Given the description of an element on the screen output the (x, y) to click on. 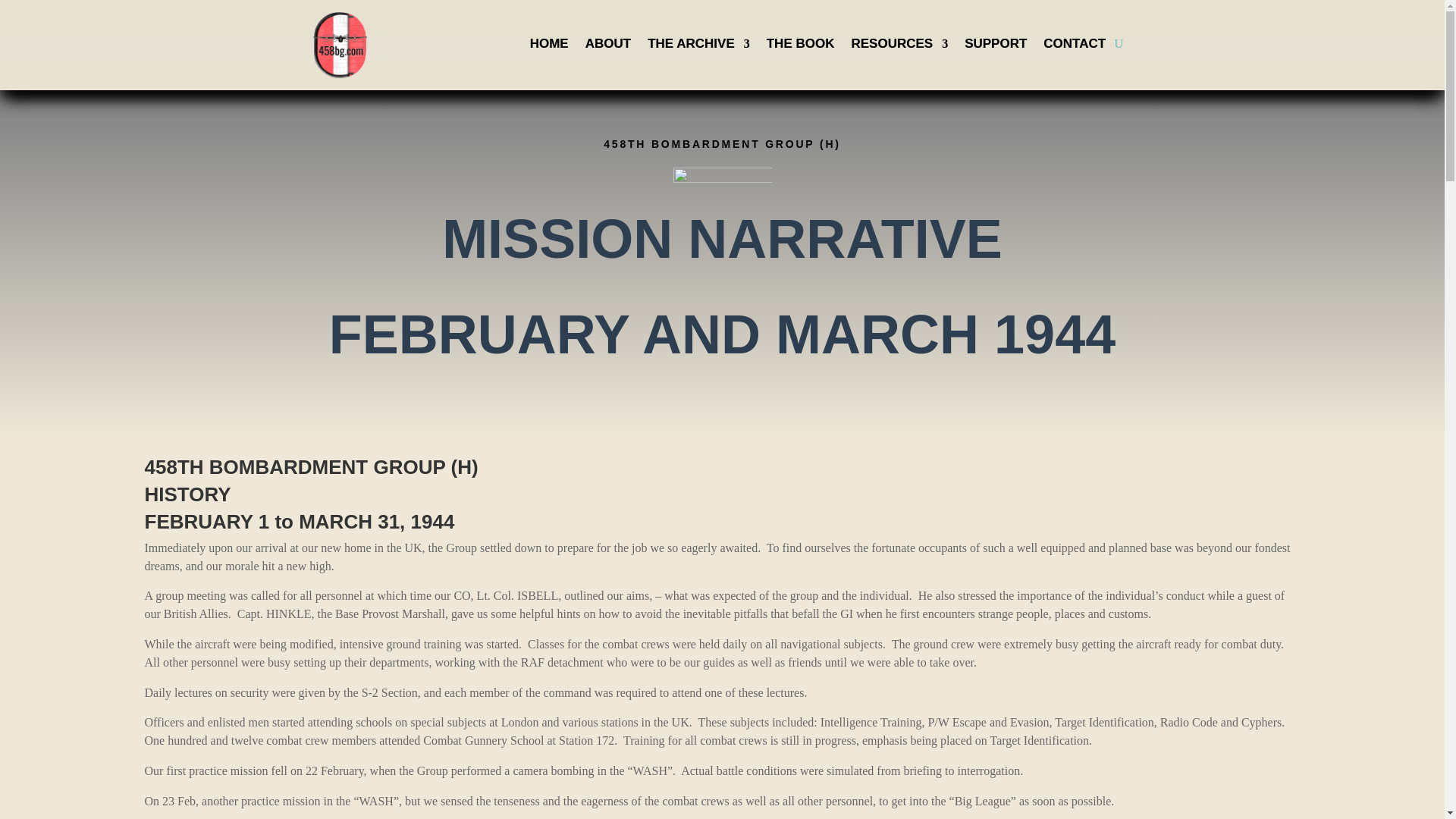
ABOUT (607, 46)
attorney-1 (721, 175)
THE BOOK (800, 46)
HOME (549, 46)
THE ARCHIVE (698, 46)
